Given the description of an element on the screen output the (x, y) to click on. 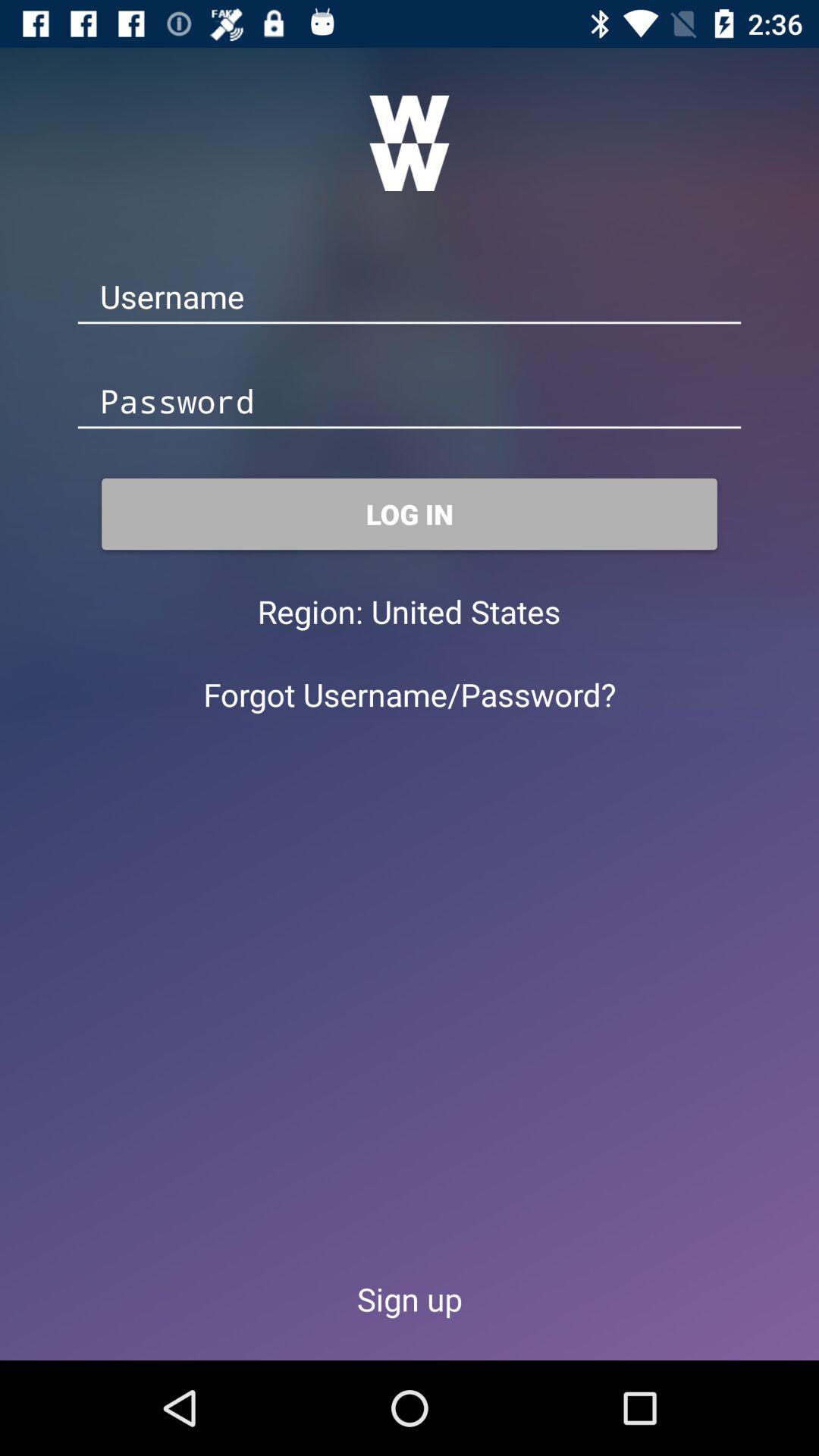
press the icon below forgot username/password? (409, 1298)
